Given the description of an element on the screen output the (x, y) to click on. 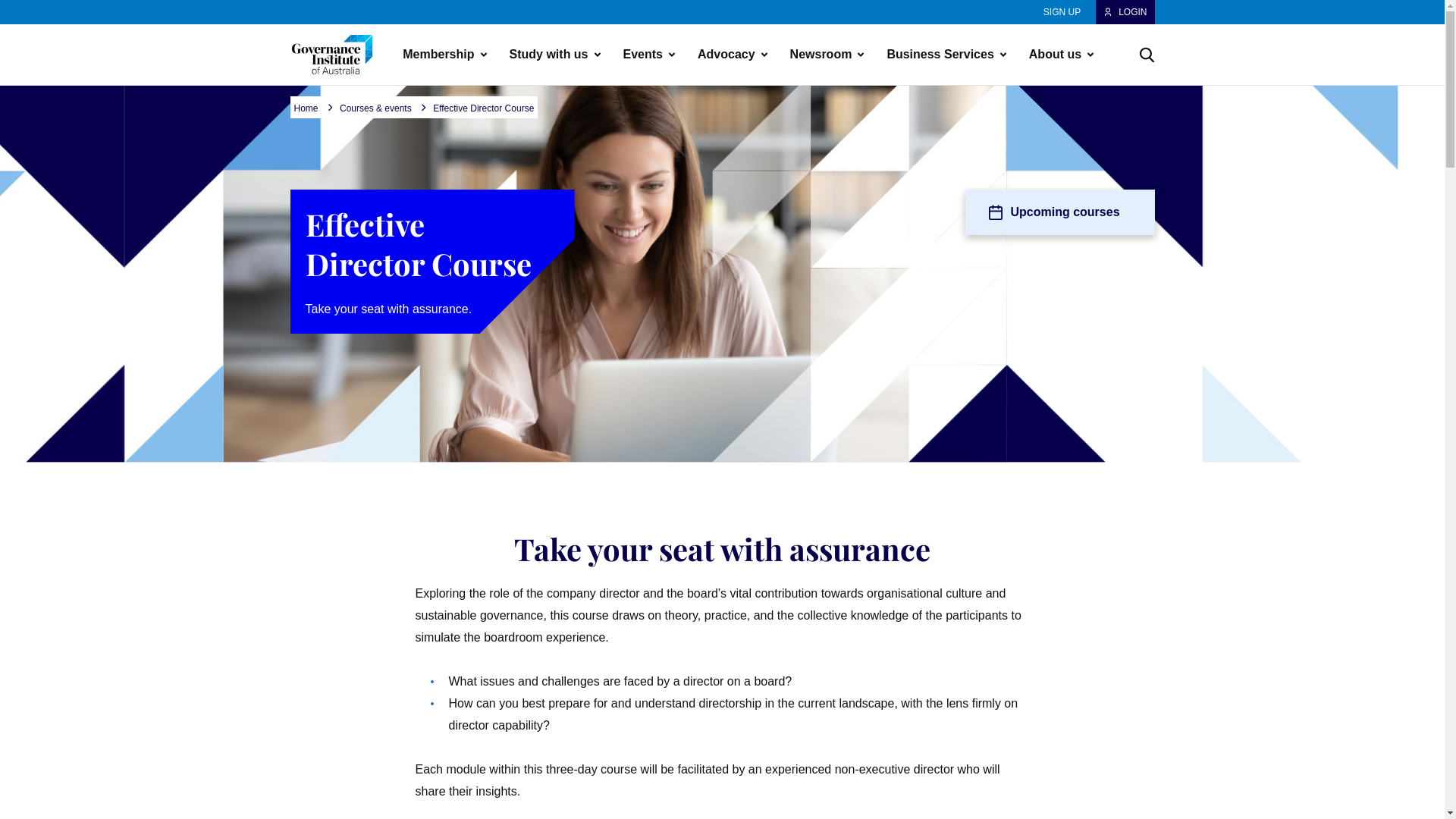
About us Element type: text (1056, 54)
SIGN UP Element type: text (1061, 12)
Newsroom Element type: text (822, 54)
Home Element type: text (306, 108)
LOGIN Element type: text (1124, 12)
Advocacy Element type: text (727, 54)
Business Services Element type: text (941, 54)
Membership Element type: text (439, 54)
Courses & events Element type: text (375, 108)
Study with us Element type: text (550, 54)
Upcoming courses Element type: text (1059, 212)
Events Element type: text (644, 54)
